Given the description of an element on the screen output the (x, y) to click on. 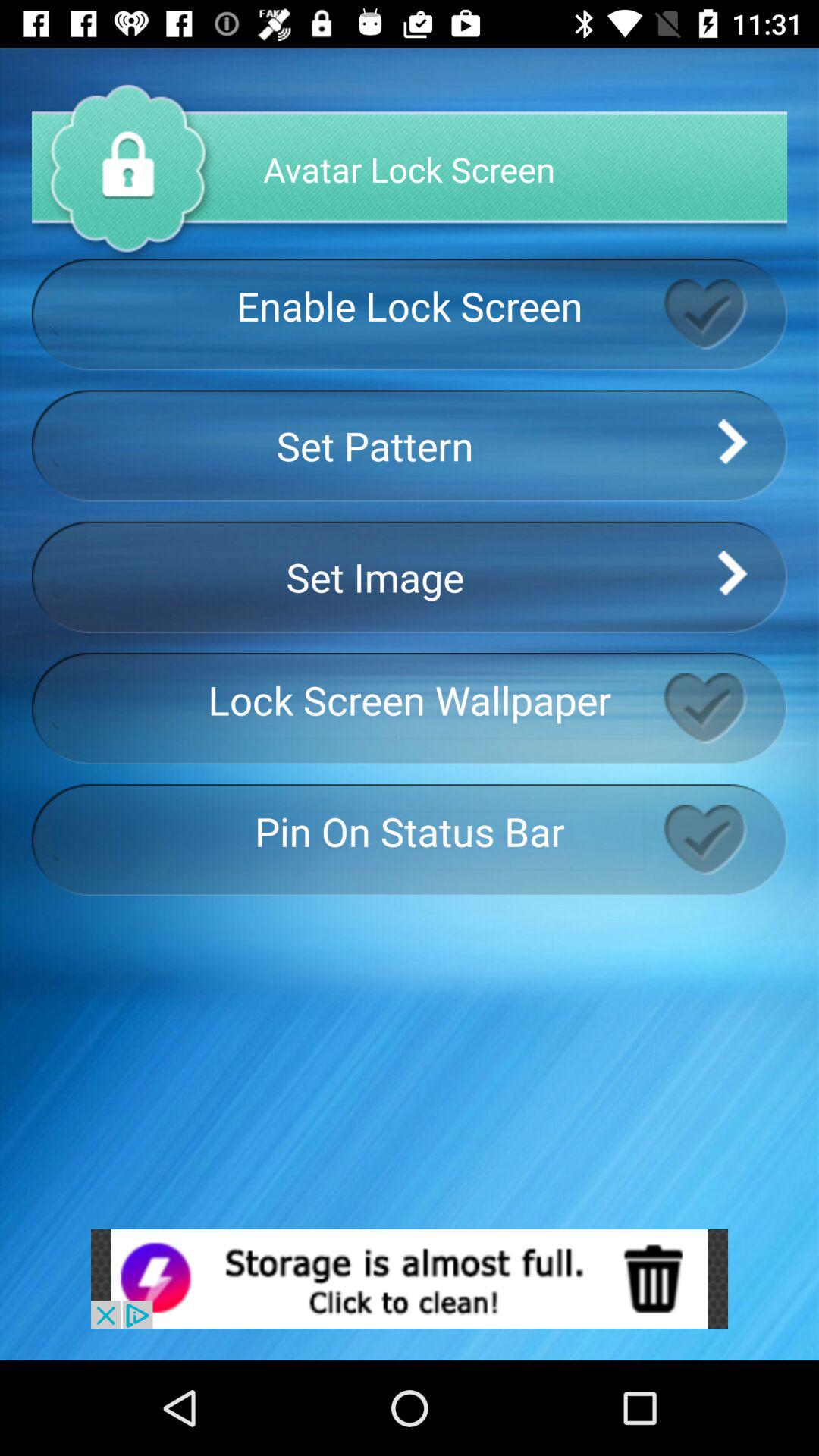
click to done pin on status bar (725, 839)
